Given the description of an element on the screen output the (x, y) to click on. 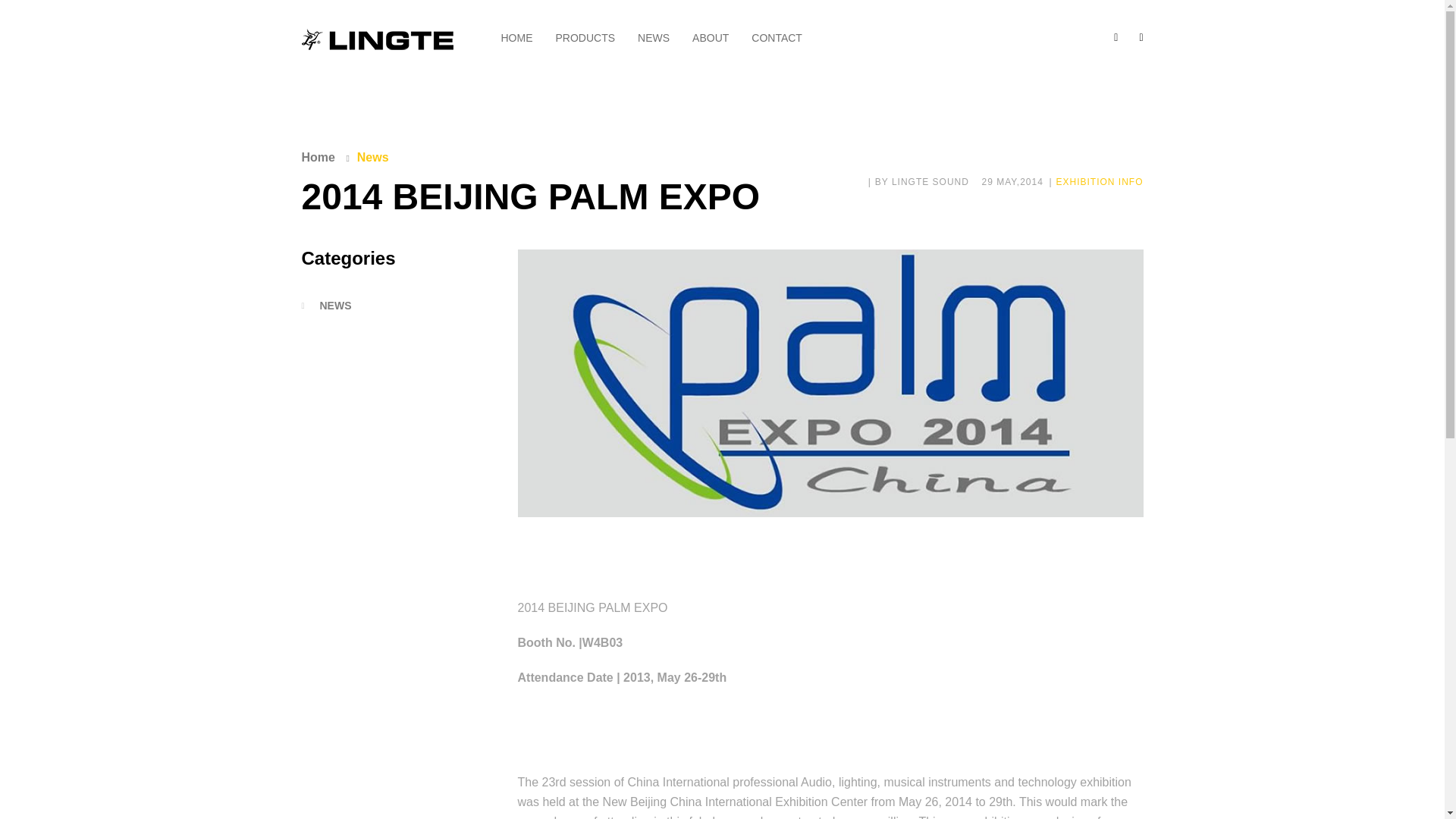
Multi-Color Display Amplifer (613, 746)
Touring Amplfiiers (608, 701)
LINGTE (353, 723)
NEWS (653, 37)
Power Amplifier (608, 655)
XH-N (354, 738)
EXHIBITION INFO (1098, 181)
Home (317, 156)
ABOUT (711, 37)
NEWS (398, 305)
HOME (516, 37)
PRODUCTS (584, 37)
Installation Amplfiiers (608, 678)
Karaoke Amplifiers (608, 723)
CONTACT (776, 37)
